Given the description of an element on the screen output the (x, y) to click on. 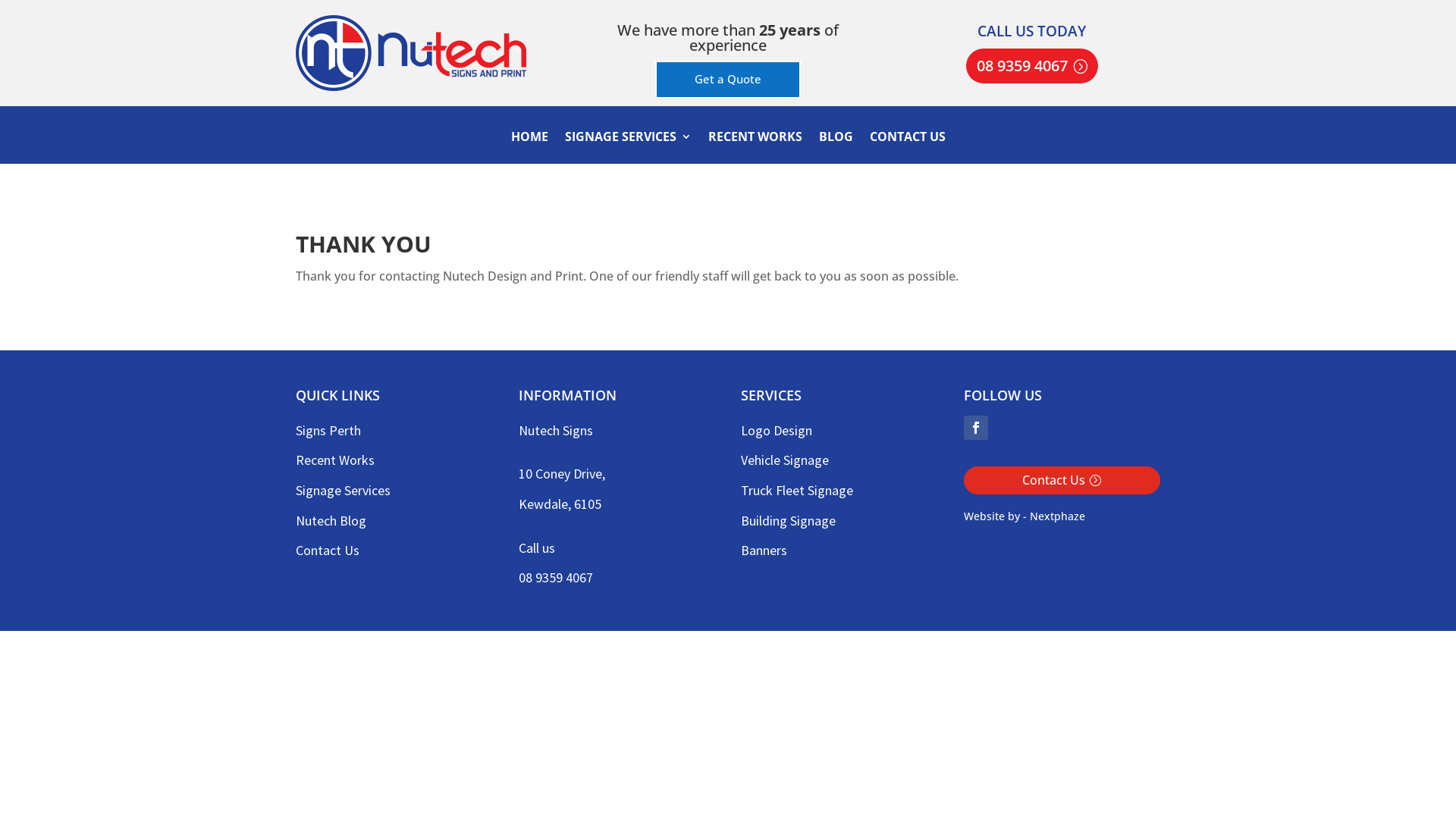
Building Signage Element type: text (787, 520)
Banners Element type: text (763, 549)
Get a Quote Element type: text (727, 79)
08 9359 4067 Element type: text (555, 577)
RECENT WORKS Element type: text (755, 147)
Signage Services Element type: text (342, 489)
Logo Design Element type: text (776, 430)
Recent Works Element type: text (334, 459)
Nutech Blog Element type: text (330, 520)
CONTACT US Element type: text (906, 147)
SIGNAGE SERVICES Element type: text (627, 147)
BLOG Element type: text (836, 147)
08 9359 4067 Element type: text (1032, 65)
Vehicle Signage Element type: text (784, 459)
Contact Us Element type: text (1061, 480)
Signs Perth Element type: text (327, 430)
Contact Us Element type: text (327, 549)
HOME Element type: text (529, 147)
Follow on Facebook Element type: hover (975, 427)
Truck Fleet Signage Element type: text (796, 489)
Nextphaze Element type: text (1057, 515)
